Given the description of an element on the screen output the (x, y) to click on. 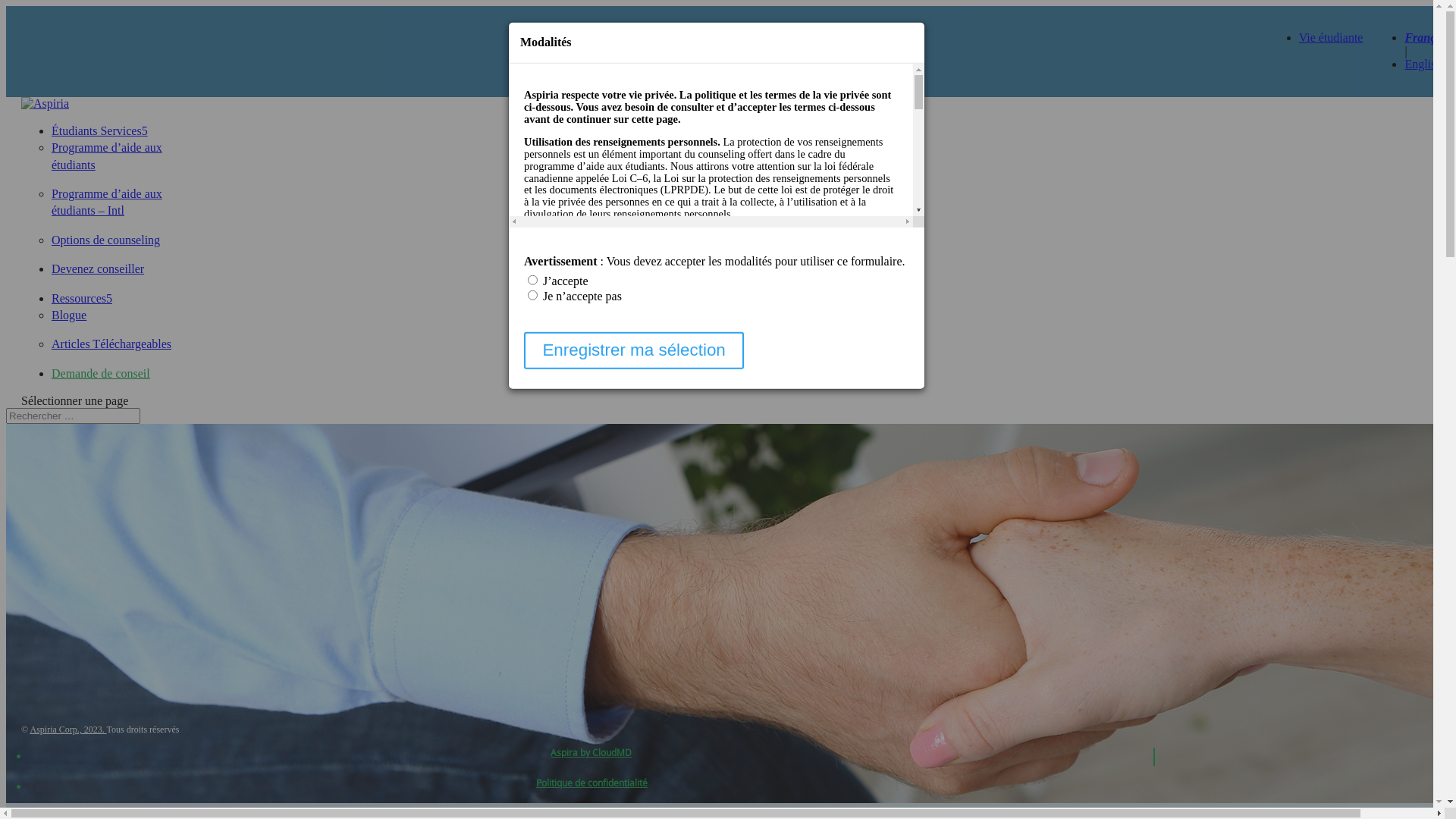
English Element type: text (1422, 63)
Devenez conseiller Element type: text (97, 268)
Ressources Element type: text (81, 297)
Options de counseling Element type: text (105, 239)
Blogue Element type: text (68, 314)
Rechercher: Element type: hover (73, 415)
Aspira by CloudMD Element type: text (590, 752)
Demande de conseil Element type: text (100, 373)
Aspiria Corp., 2023. Element type: text (67, 729)
